Given the description of an element on the screen output the (x, y) to click on. 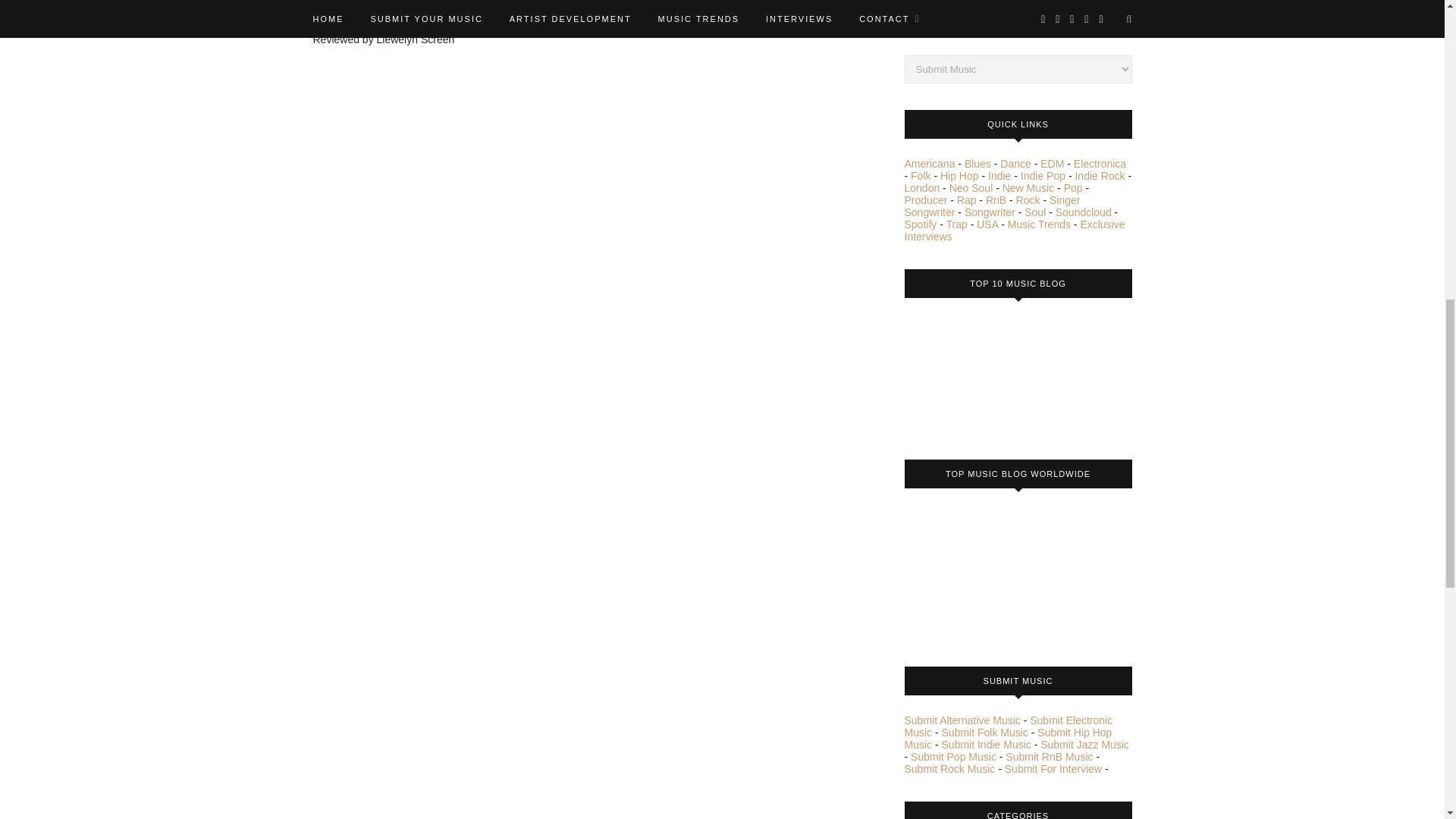
Neo Soul (970, 187)
Hip Hop (959, 175)
Pop (1073, 187)
Americana (929, 163)
Indie (999, 175)
Folk (920, 175)
New Music (1028, 187)
Top 10 Music Blog (960, 373)
Blues (977, 163)
EDM (1052, 163)
